Given the description of an element on the screen output the (x, y) to click on. 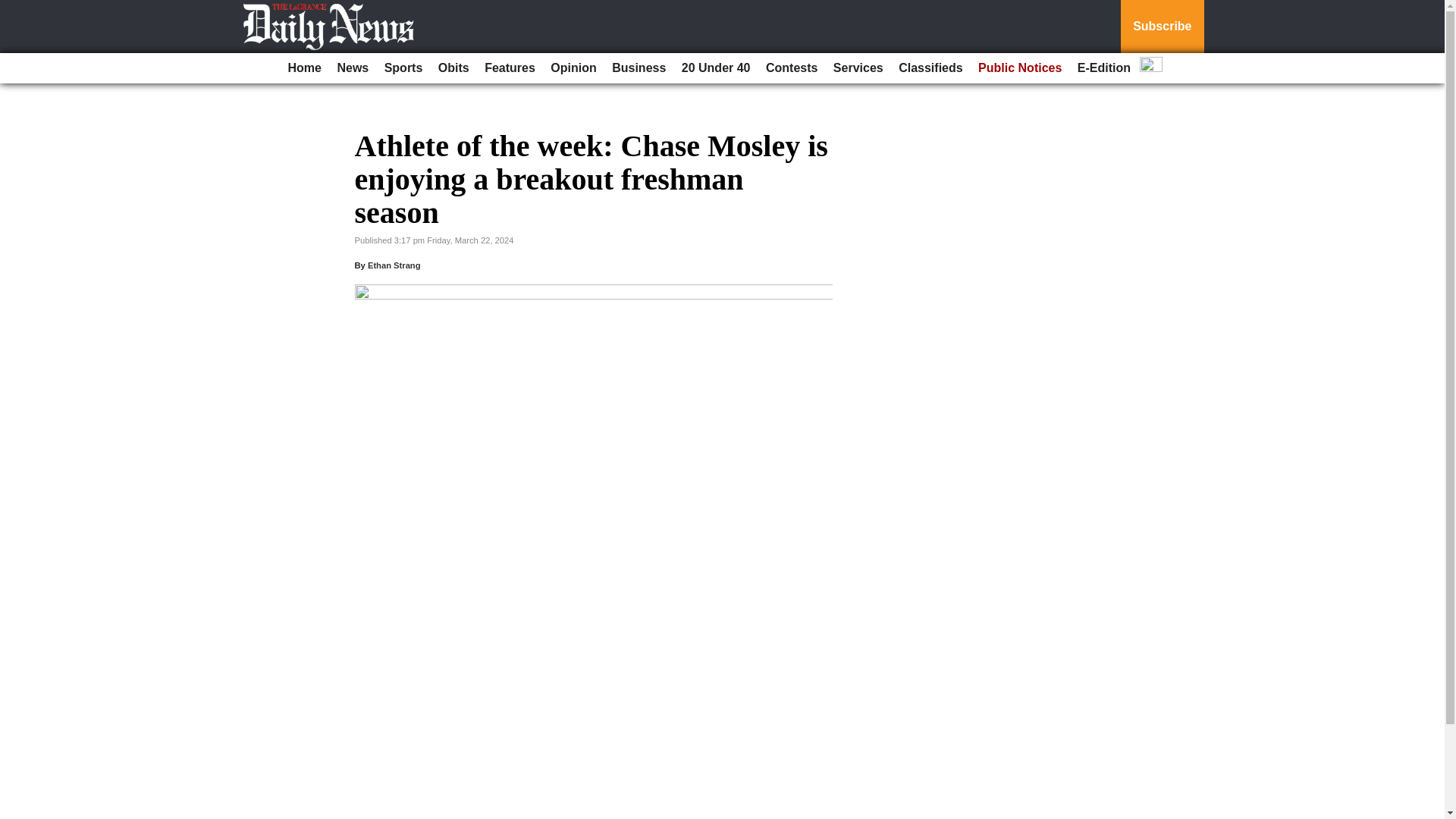
Contests (792, 68)
Home (304, 68)
Opinion (573, 68)
Sports (403, 68)
Public Notices (1019, 68)
Go (13, 9)
Classifieds (930, 68)
Features (510, 68)
Ethan Strang (394, 265)
Services (858, 68)
